Given the description of an element on the screen output the (x, y) to click on. 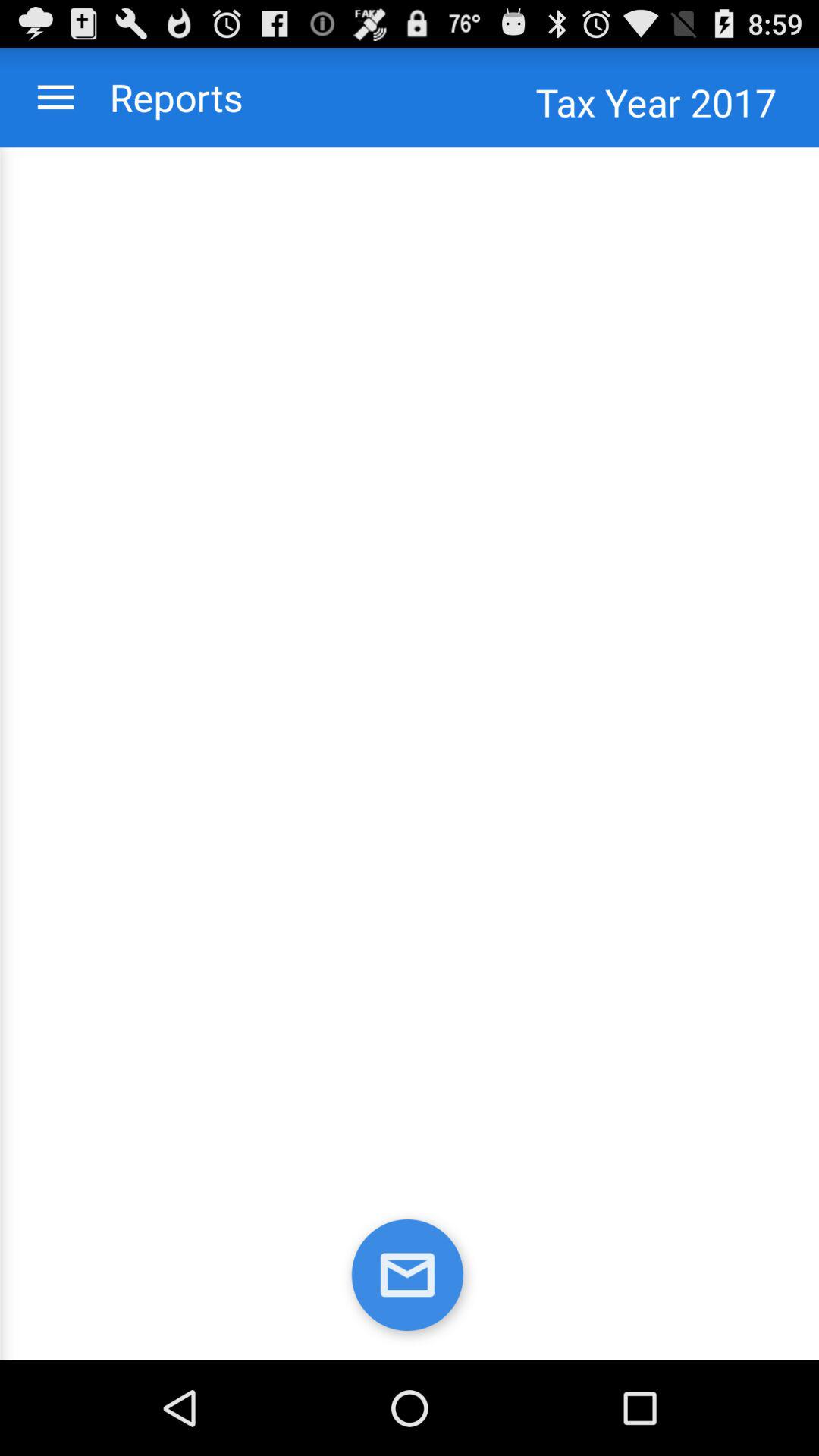
view inbox (409, 1278)
